Given the description of an element on the screen output the (x, y) to click on. 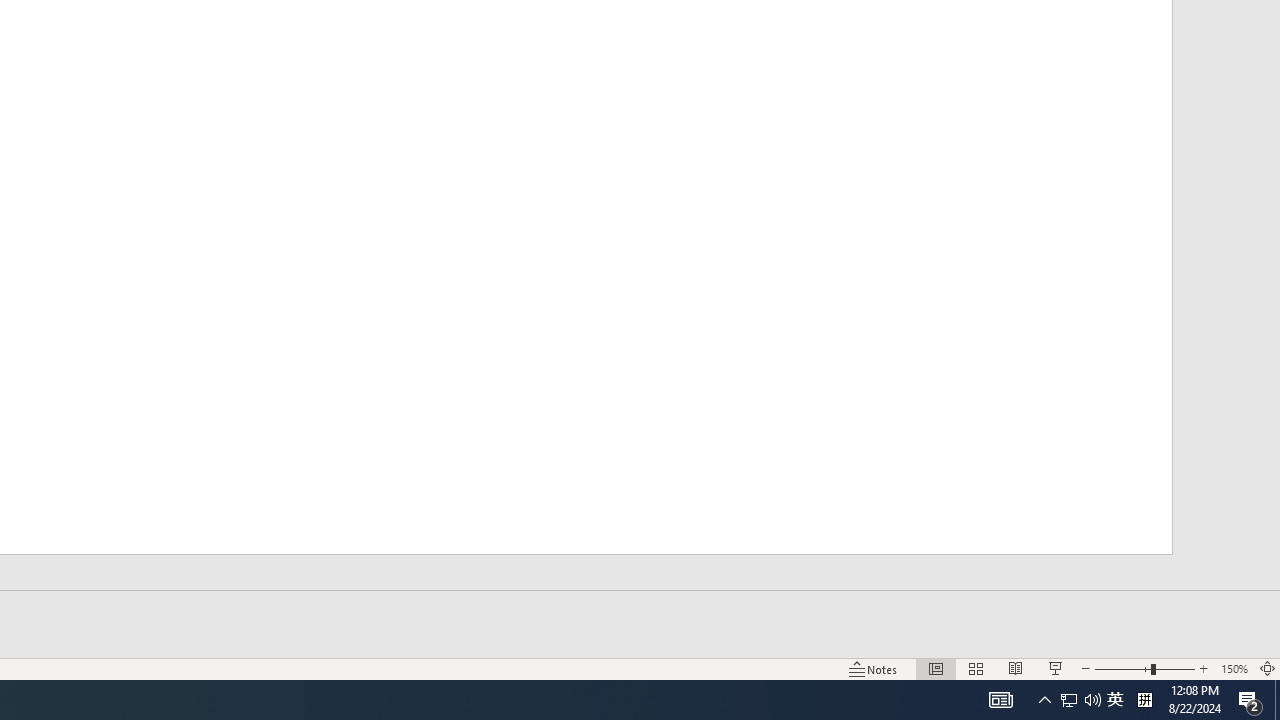
Zoom 150% (1234, 668)
